Given the description of an element on the screen output the (x, y) to click on. 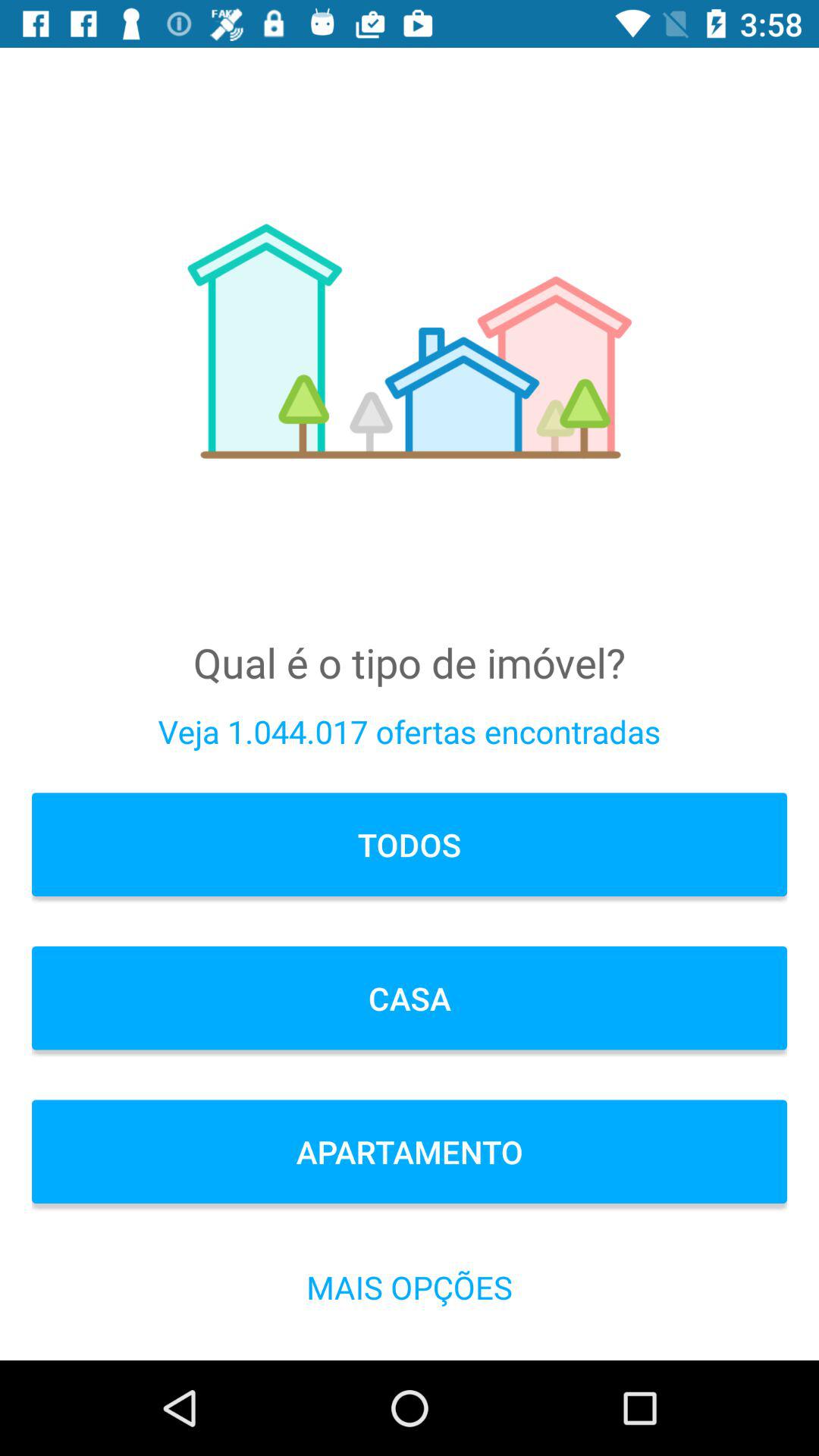
select the icon below the apartamento (409, 1286)
